Given the description of an element on the screen output the (x, y) to click on. 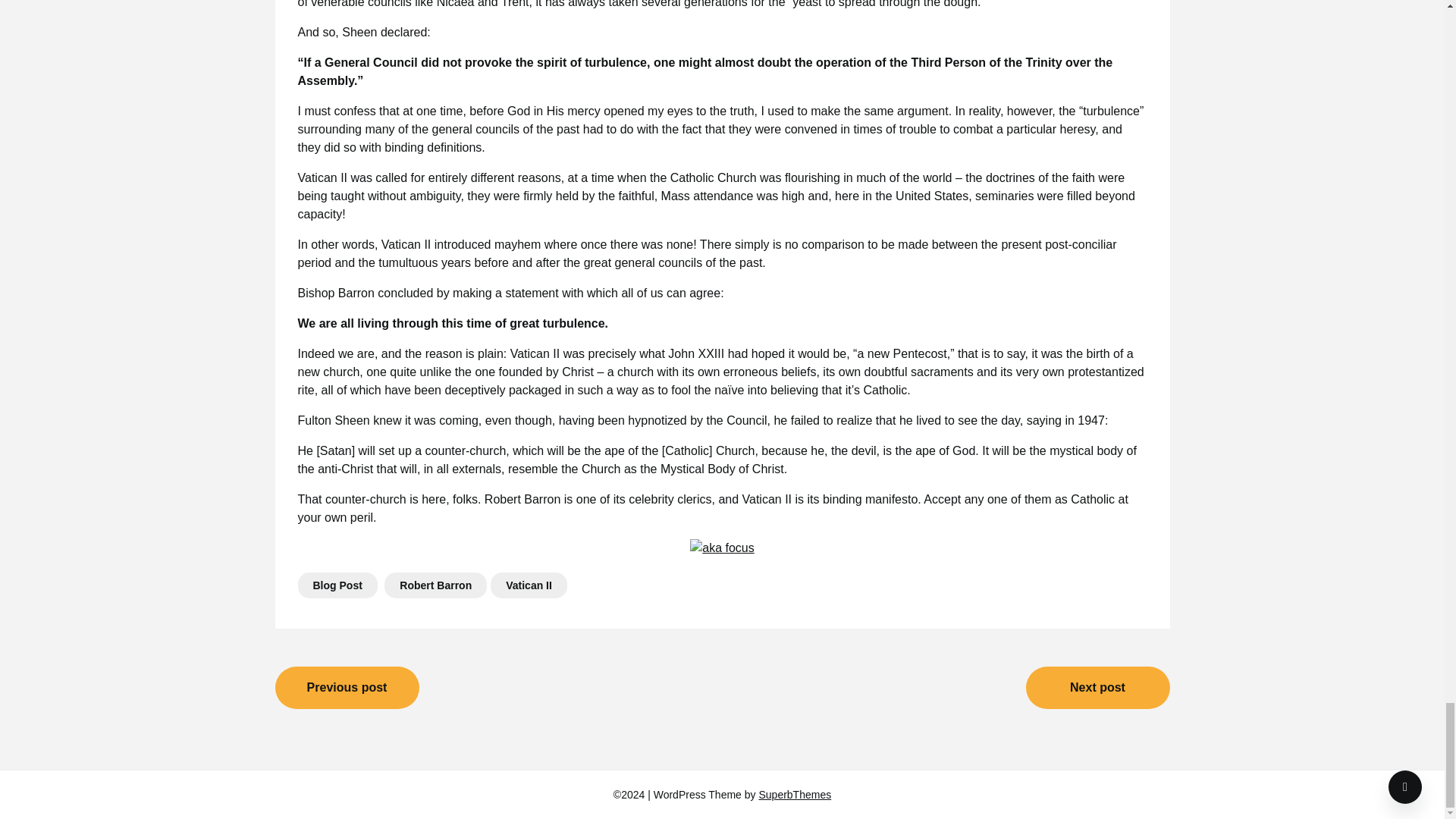
Previous post (347, 687)
Blog Post (337, 585)
SuperbThemes (794, 794)
Next post (1097, 687)
Vatican II (528, 585)
Robert Barron (435, 585)
